Given the description of an element on the screen output the (x, y) to click on. 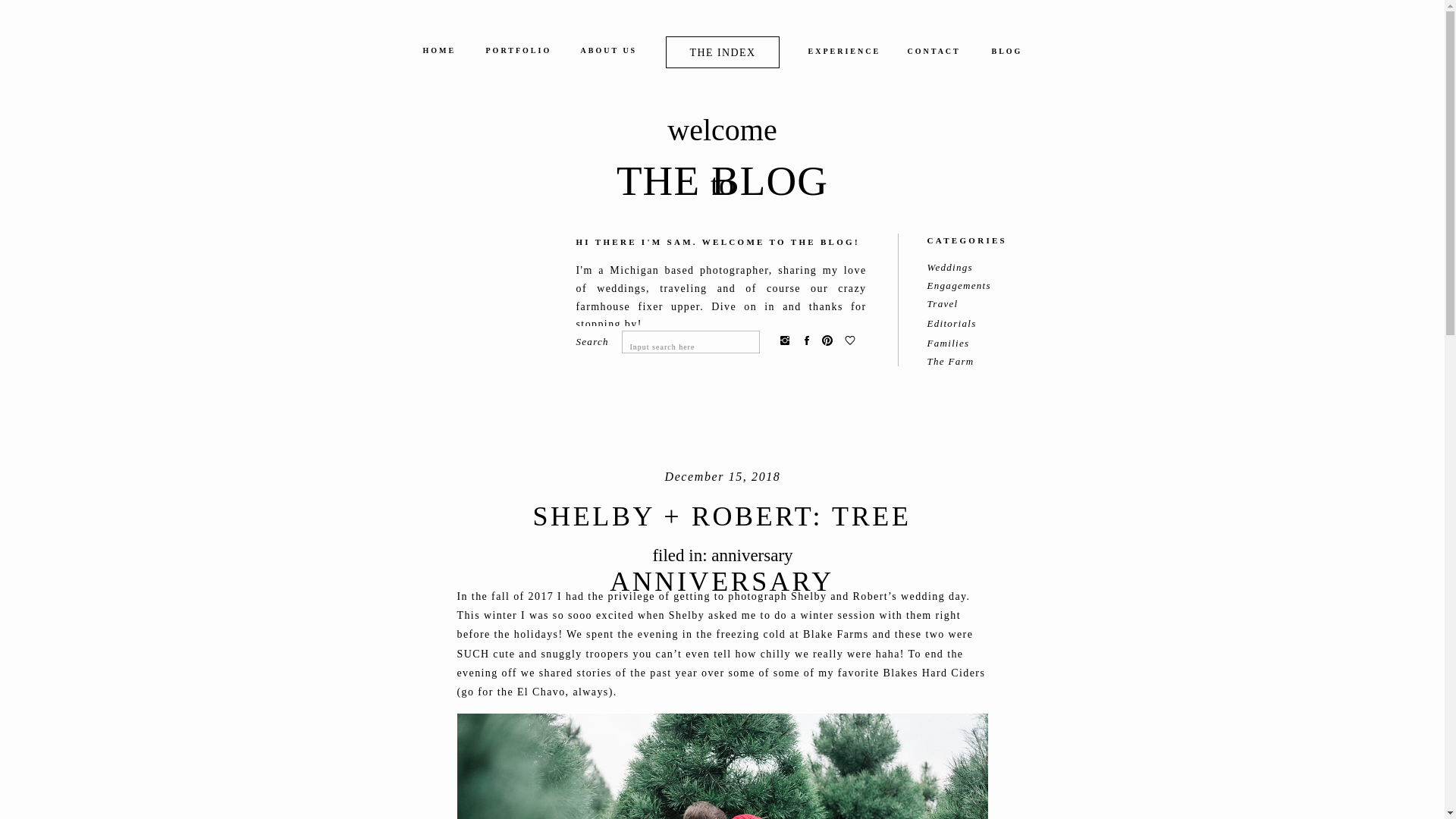
CONTACT (931, 54)
anniversary (751, 555)
BLOG (1006, 54)
THE INDEX (722, 51)
Weddings (958, 268)
EXPERIENCE (840, 54)
Travel (959, 305)
Families (960, 344)
Engagements (963, 287)
Editorials (959, 324)
ABOUT US (609, 53)
The Farm (956, 362)
HOME (439, 53)
PORTFOLIO (517, 53)
